Given the description of an element on the screen output the (x, y) to click on. 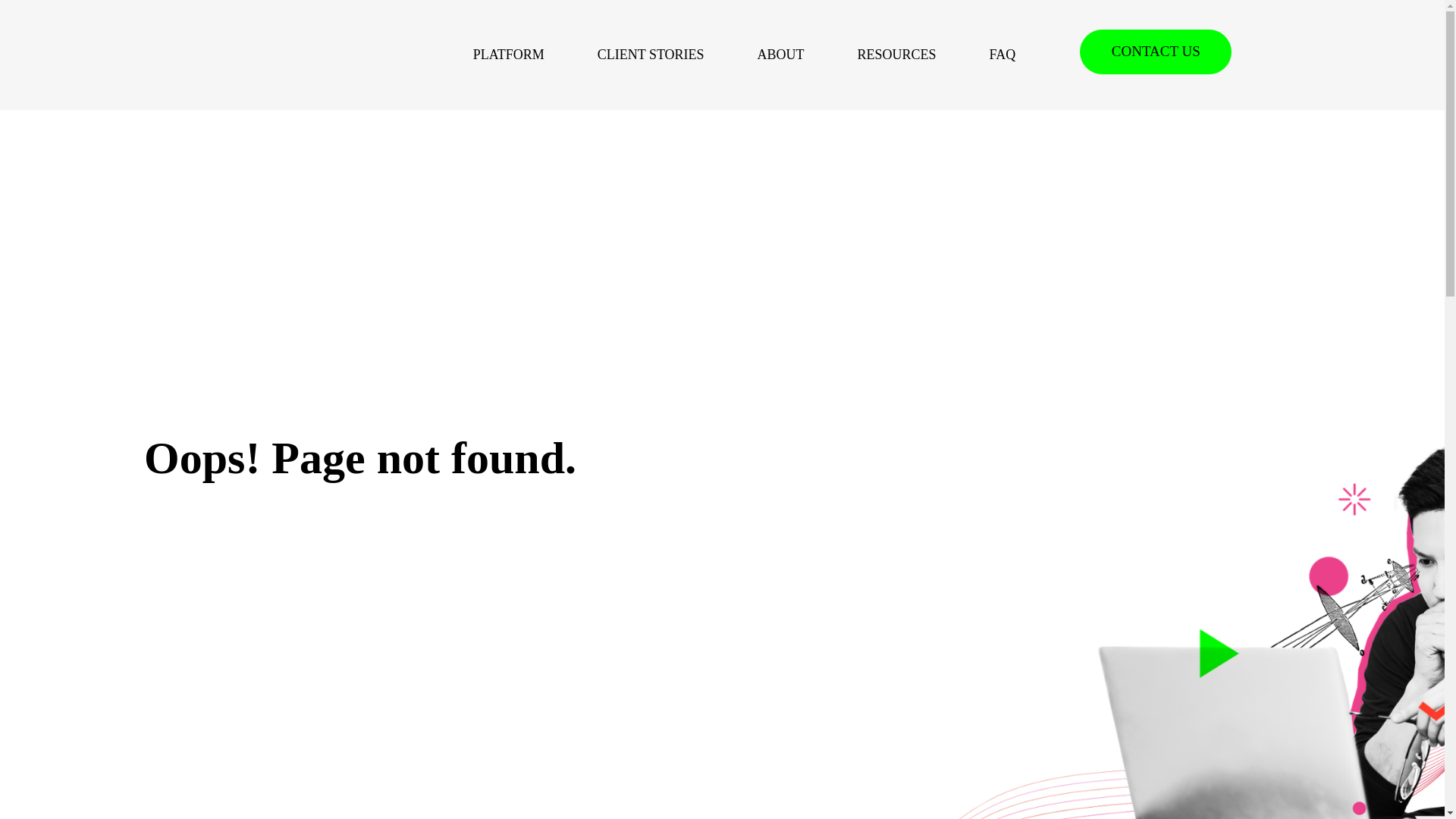
PLATFORM (508, 54)
Case Studies (650, 54)
Platform (508, 54)
Contact us (1155, 51)
nudge (210, 54)
RESOURCES (896, 54)
ABOUT (781, 54)
CLIENT STORIES (650, 54)
About (781, 54)
Resources (896, 54)
